Given the description of an element on the screen output the (x, y) to click on. 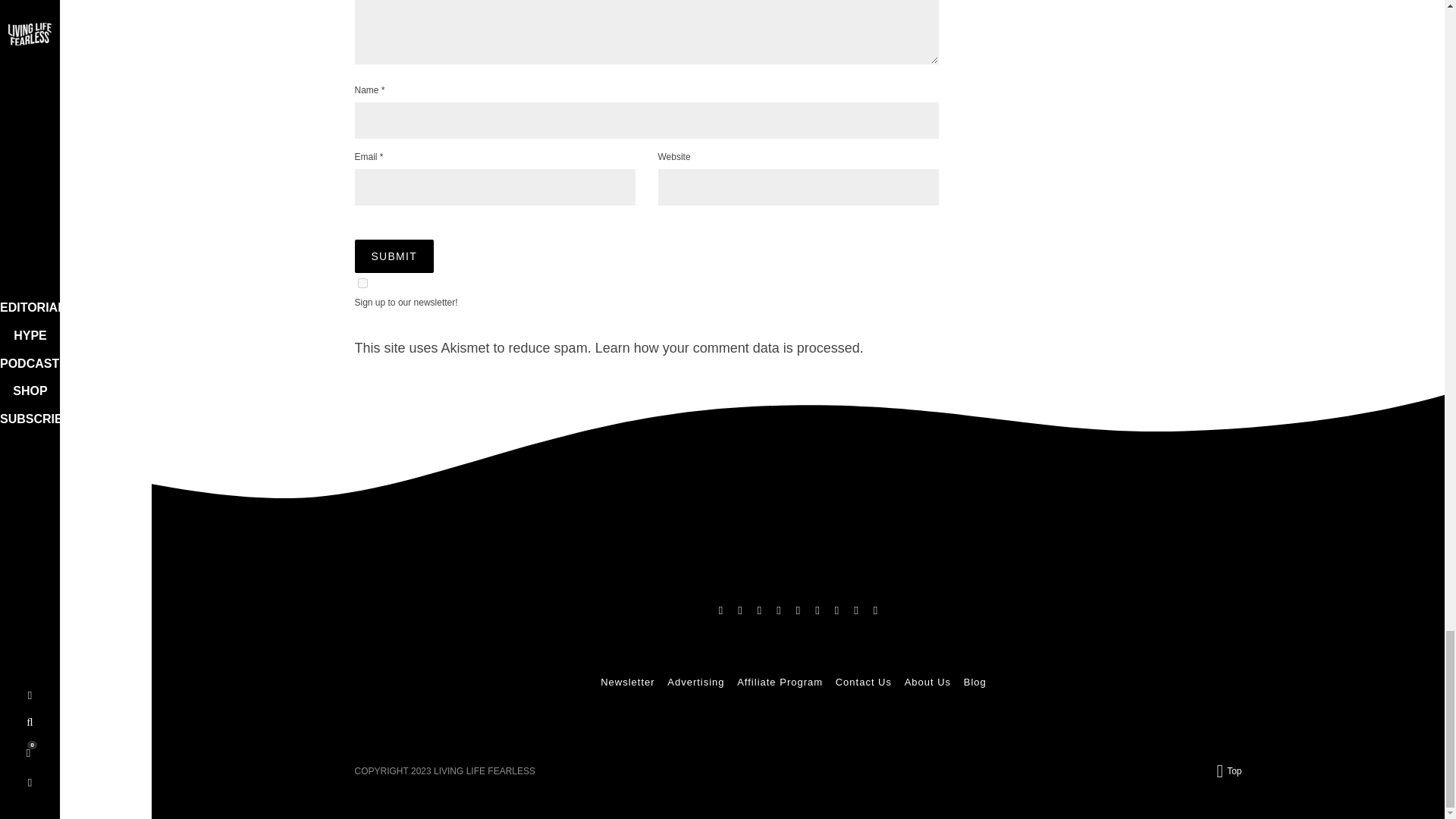
1 (363, 283)
Contact Us (863, 681)
Submit (394, 255)
